Given the description of an element on the screen output the (x, y) to click on. 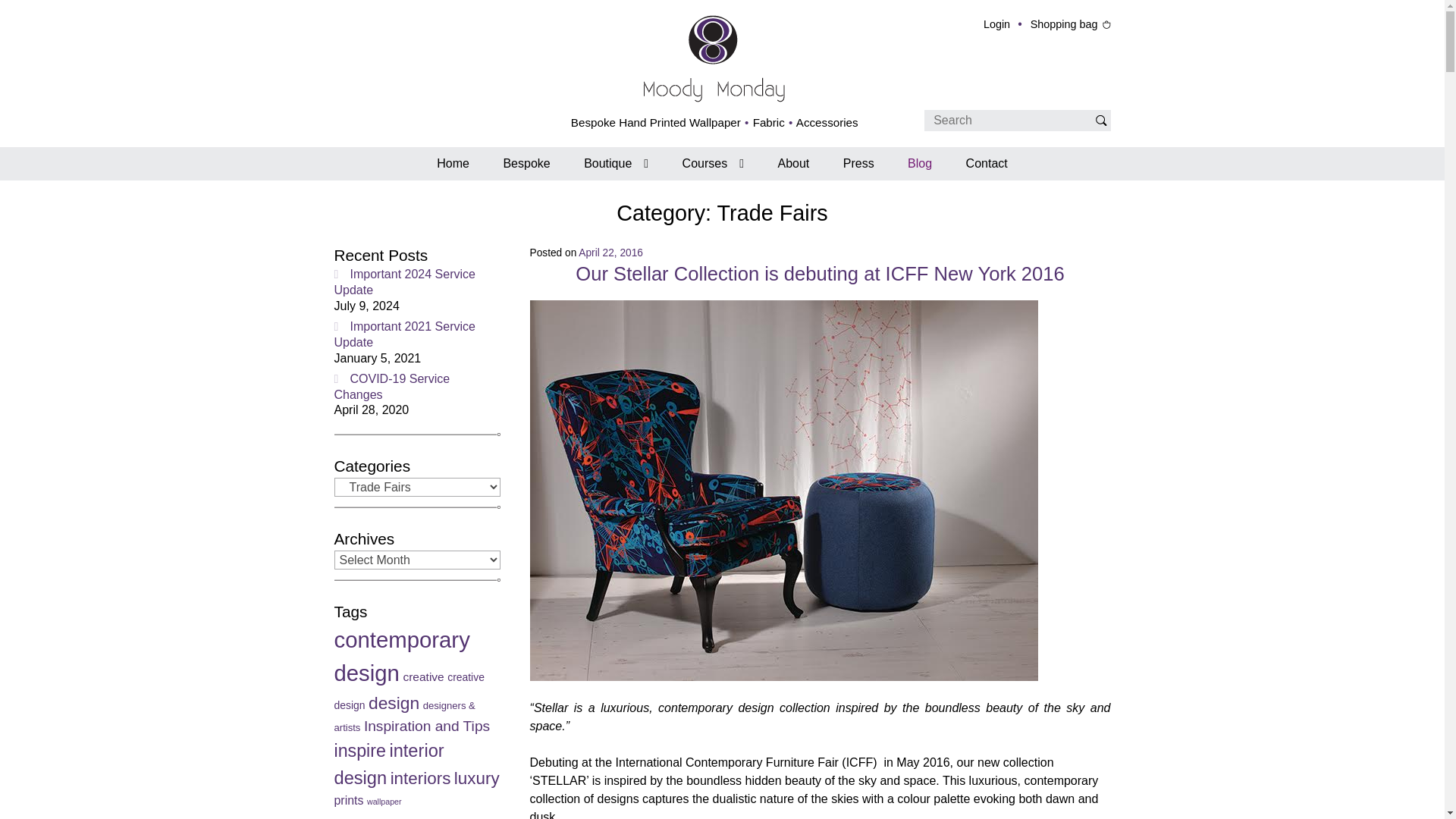
Home (453, 163)
Boutique (616, 163)
Bespoke (525, 163)
Search (1099, 120)
Contact (986, 163)
Our Stellar Collection is debuting at ICFF New York 2016 (819, 273)
Login (1005, 24)
Search for: (1008, 120)
About (792, 163)
Blog (919, 163)
Search (1099, 120)
Press (858, 163)
Search (1099, 120)
Courses (712, 163)
Shopping bag (1070, 23)
